Given the description of an element on the screen output the (x, y) to click on. 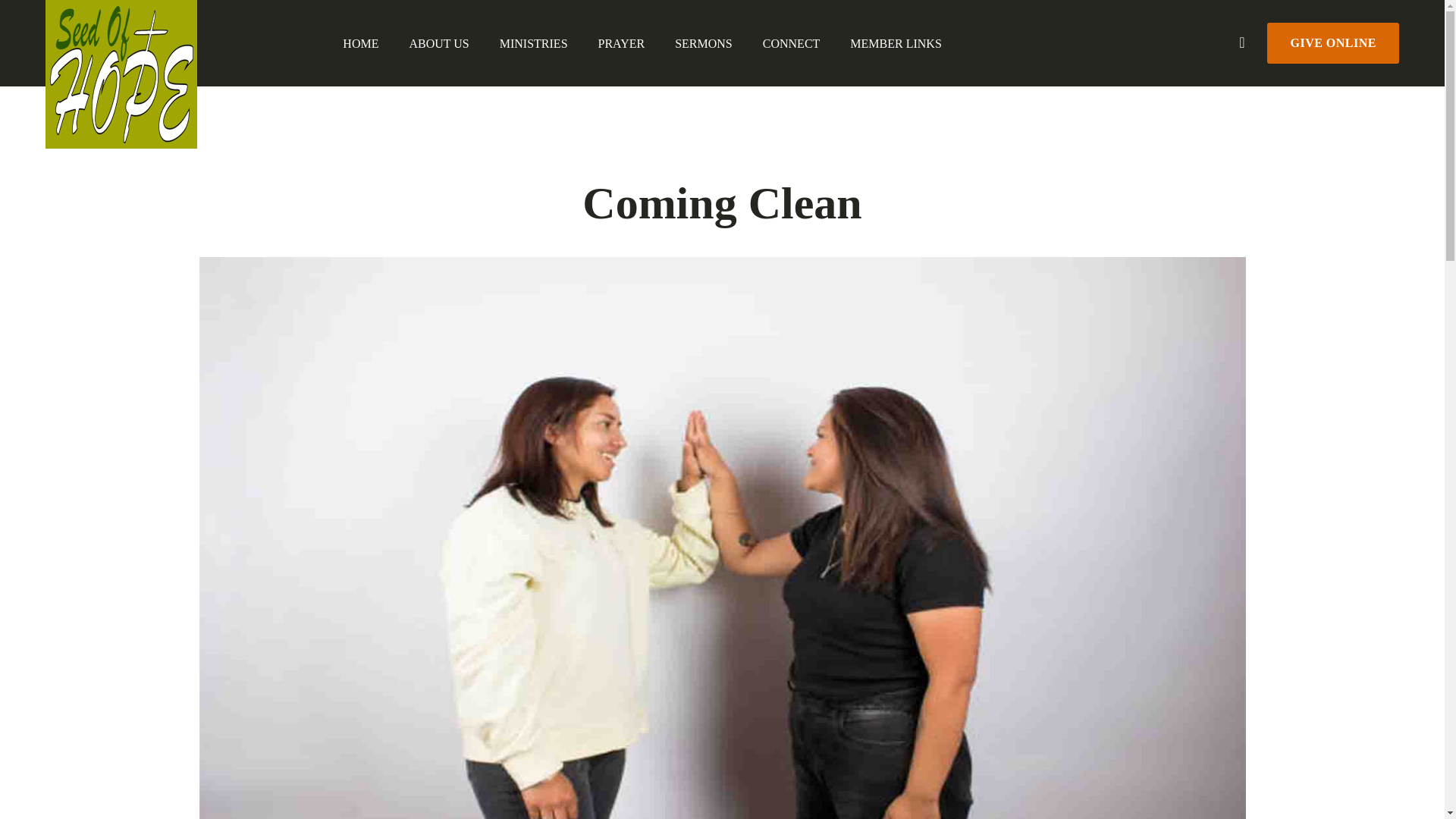
HOME (360, 43)
Seed Of Hope -  (120, 74)
